Given the description of an element on the screen output the (x, y) to click on. 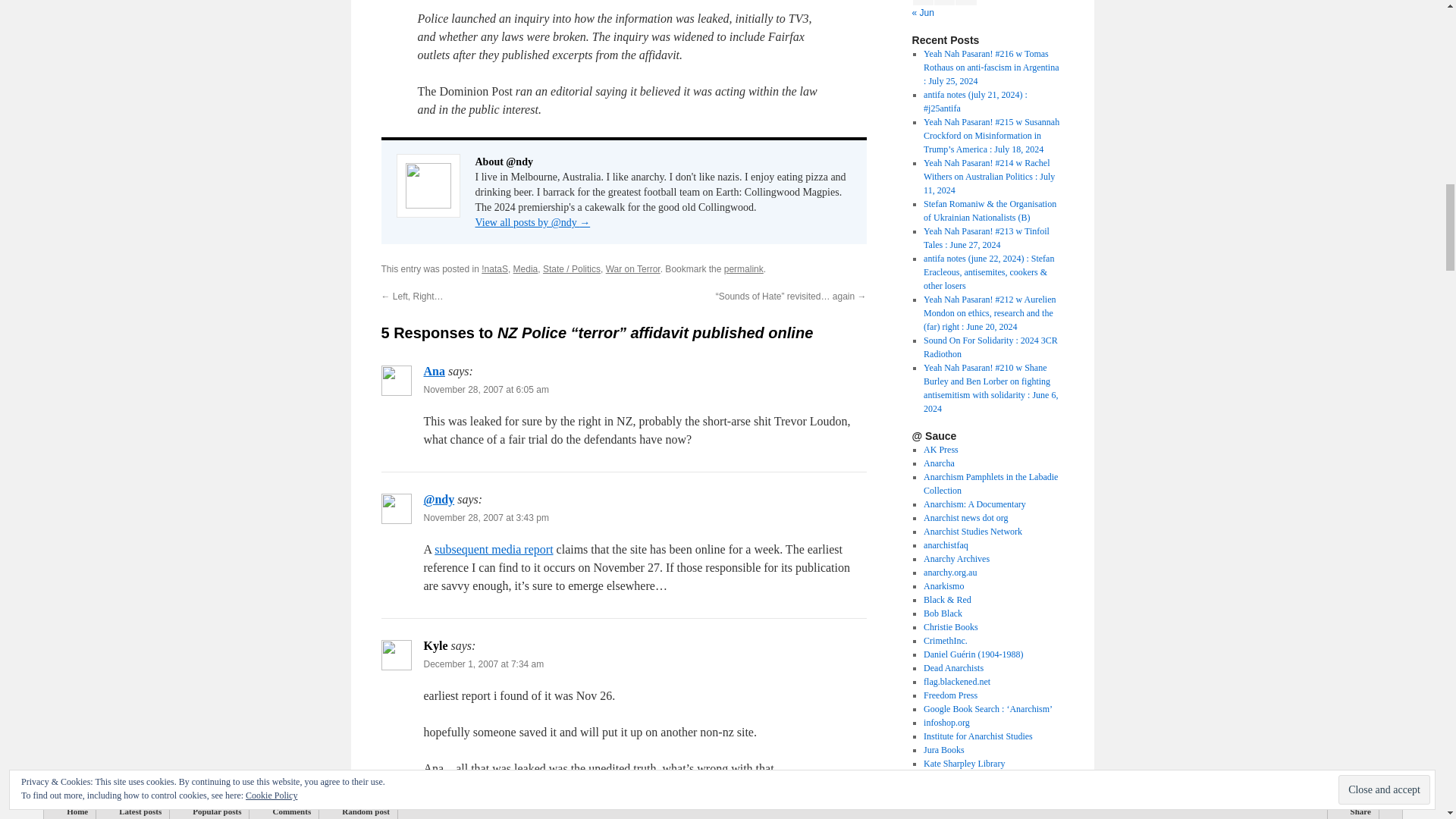
subsequent media report (493, 549)
November 28, 2007 at 6:05 am (485, 389)
!nataS (494, 268)
permalink (742, 268)
War on Terror (633, 268)
December 1, 2007 at 7:34 am (483, 664)
Ana (433, 370)
November 28, 2007 at 3:43 pm (485, 517)
Media (525, 268)
